Given the description of an element on the screen output the (x, y) to click on. 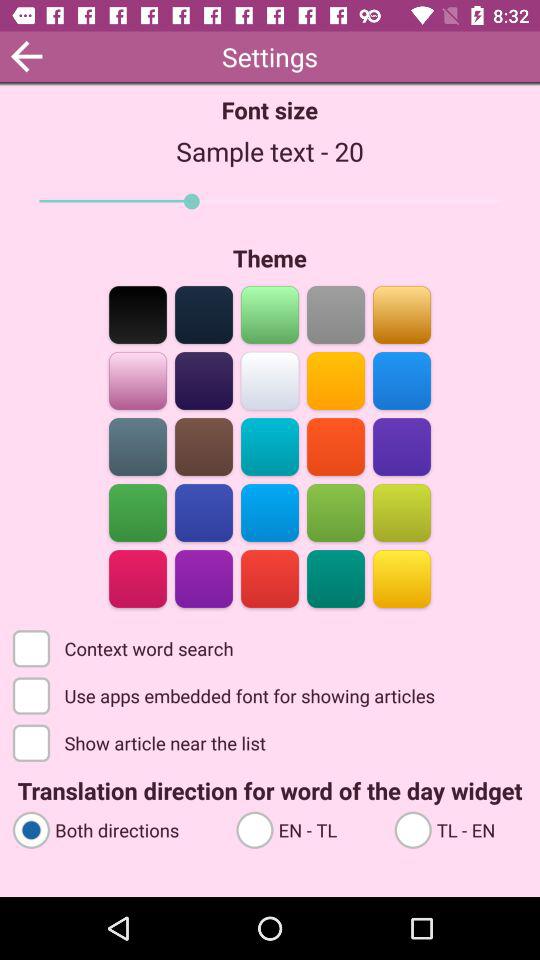
select teal theme (269, 445)
